Given the description of an element on the screen output the (x, y) to click on. 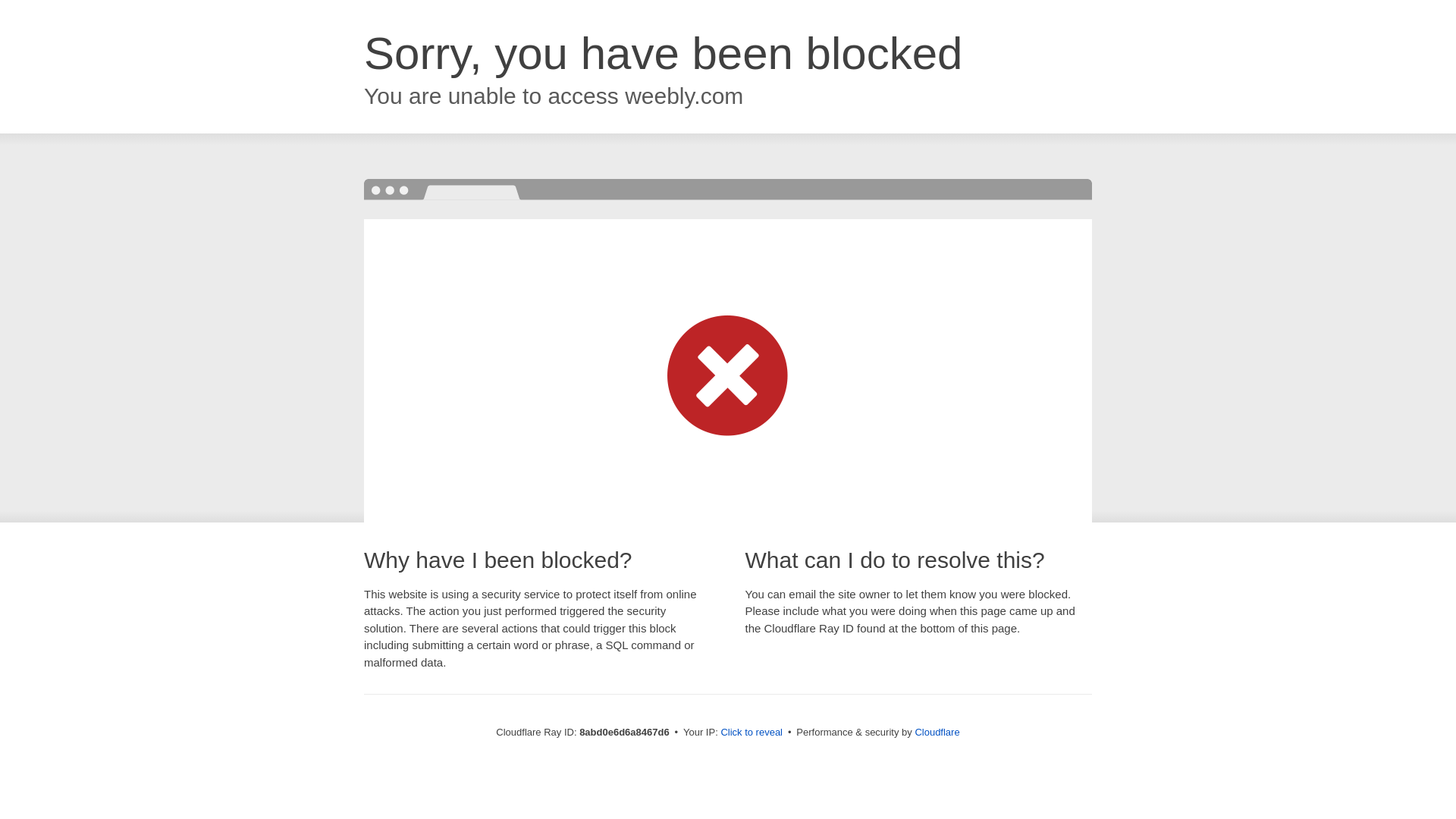
Cloudflare (936, 731)
Click to reveal (751, 732)
